Given the description of an element on the screen output the (x, y) to click on. 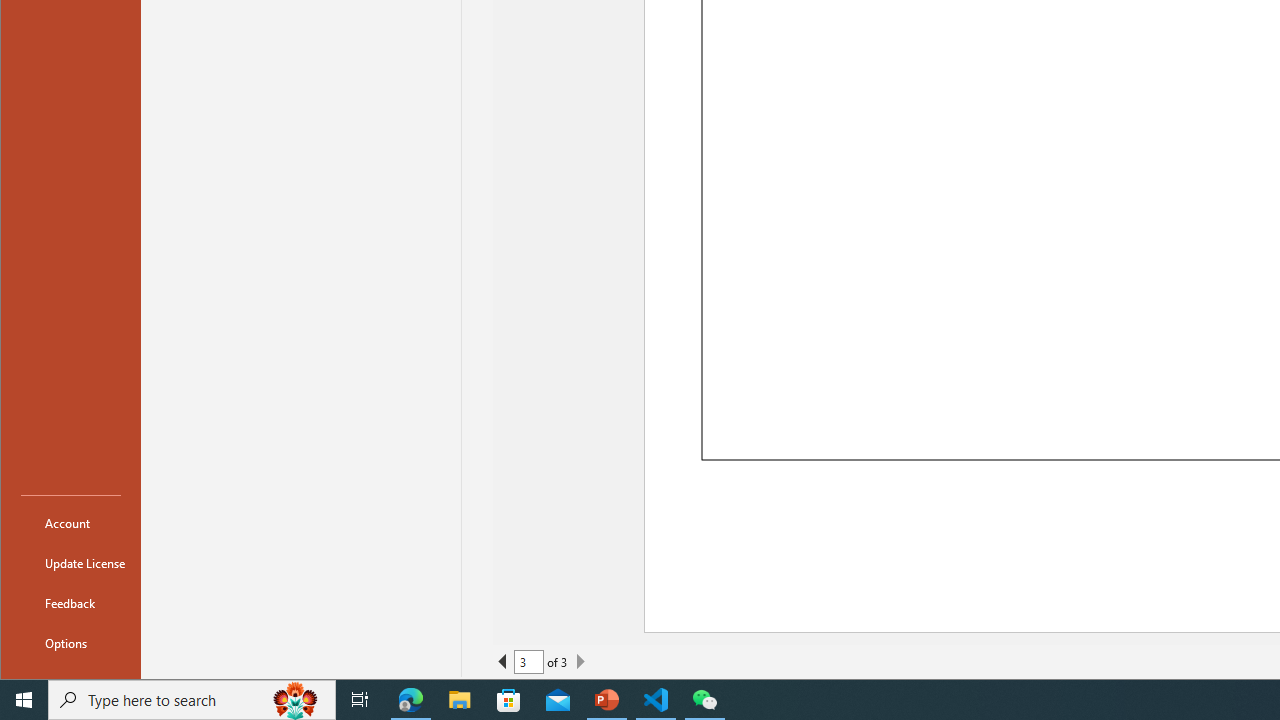
Previous Page (502, 661)
Current Page (528, 661)
Update License (70, 562)
Account (70, 522)
Feedback (70, 602)
Options (70, 642)
WeChat - 1 running window (704, 699)
